Given the description of an element on the screen output the (x, y) to click on. 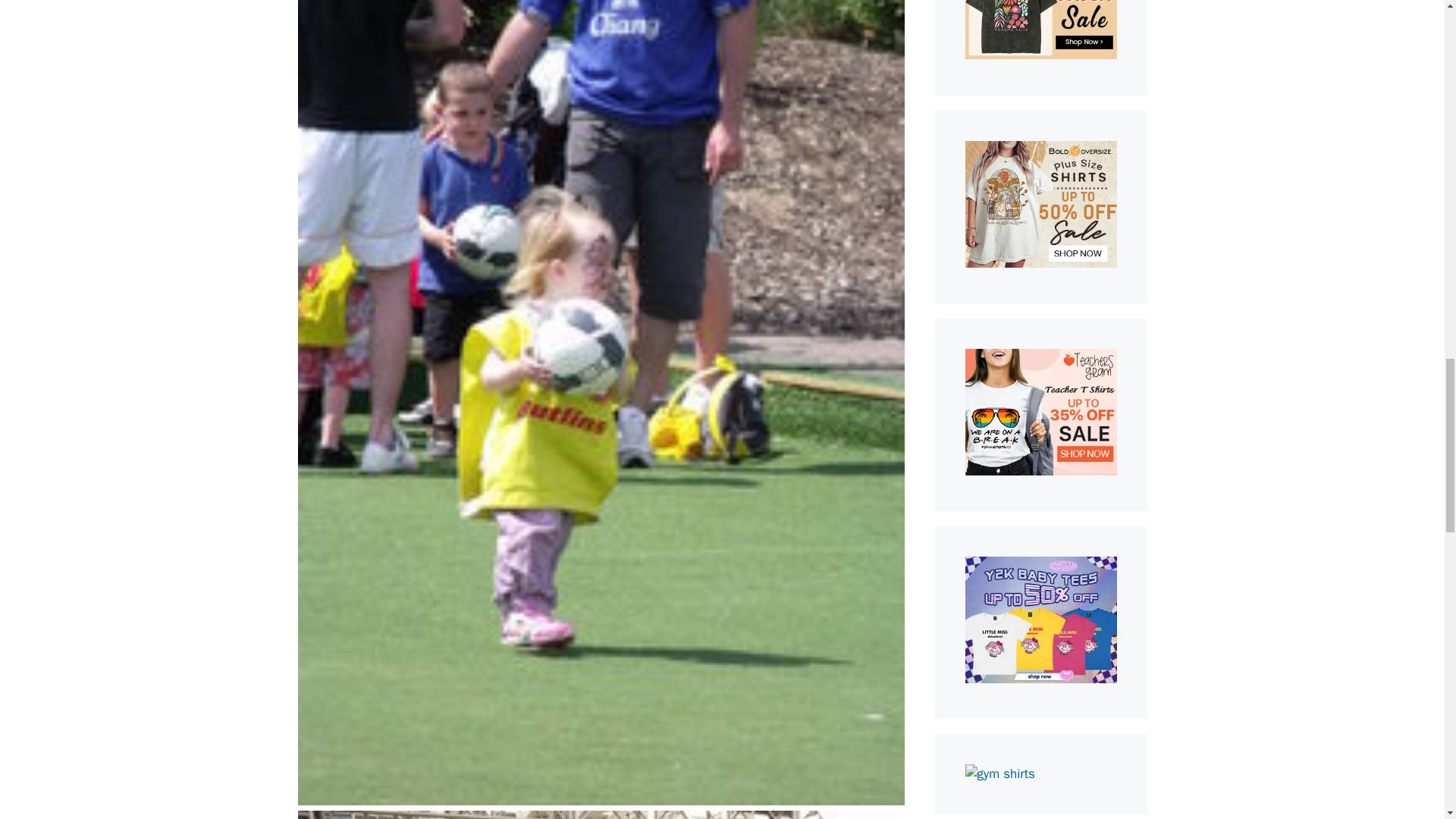
gym shirts (998, 773)
christian t shirts (1039, 54)
baby tees (1039, 678)
oversized shirt (1039, 263)
teacher shirt (1039, 471)
